Given the description of an element on the screen output the (x, y) to click on. 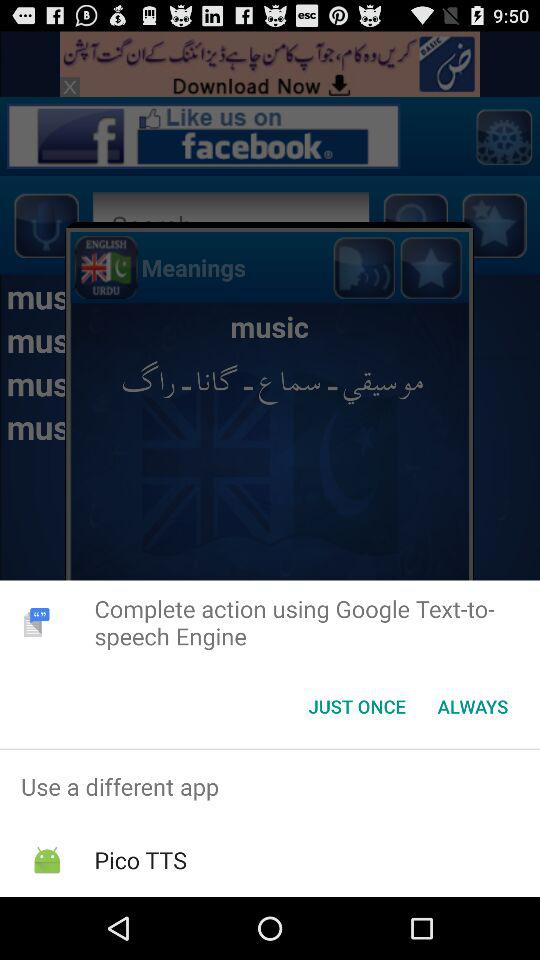
launch the app below the complete action using item (472, 706)
